Given the description of an element on the screen output the (x, y) to click on. 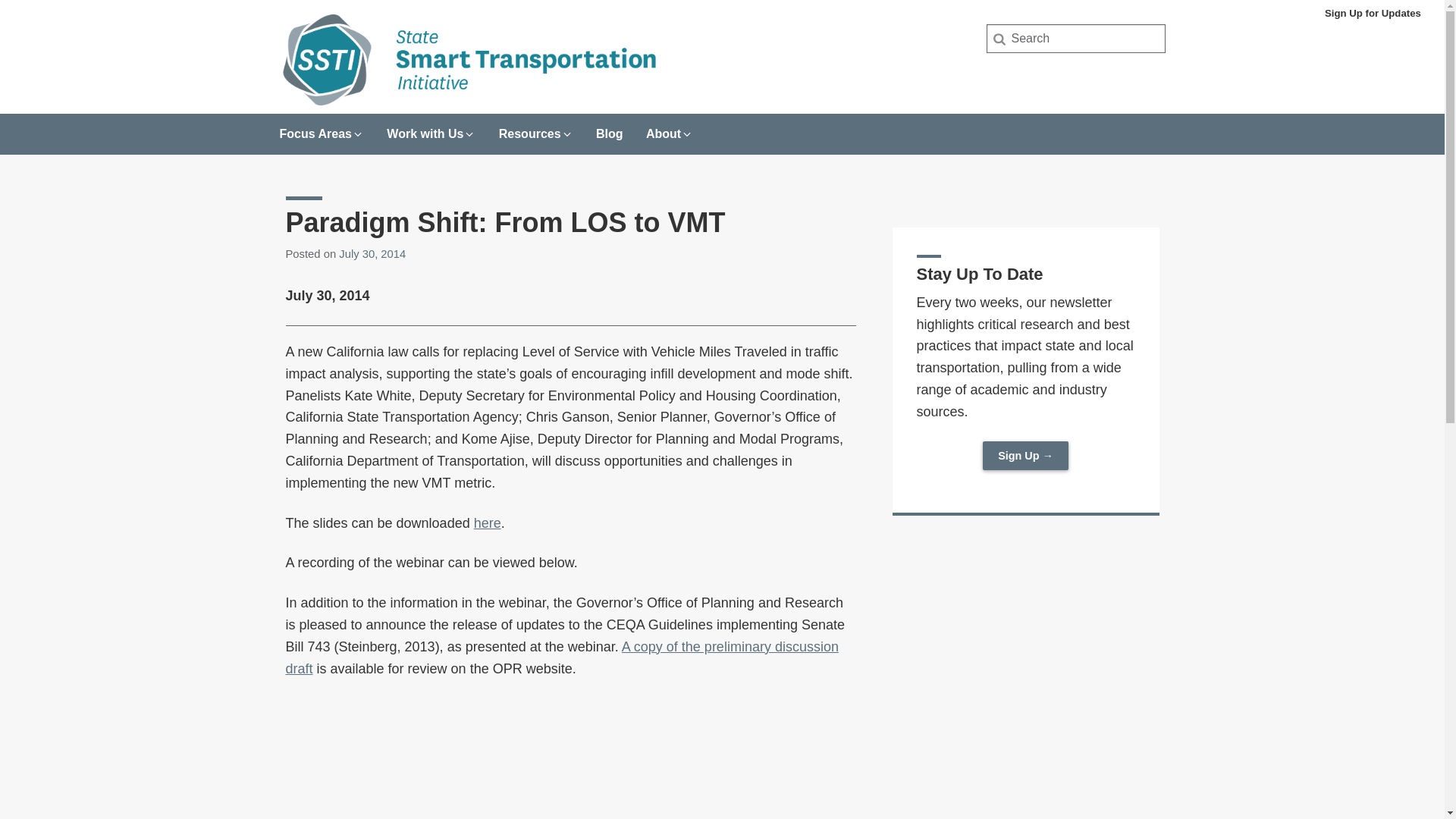
Skip to main content (3, 3)
Expand (358, 133)
Search (37, 16)
Work with Us Expand (431, 128)
About Expand (669, 128)
A copy of the preliminary discussion draft (561, 657)
Expand (687, 133)
Sign Up for Updates (1372, 13)
July 30, 2014 (372, 254)
Resources Expand (536, 128)
